Given the description of an element on the screen output the (x, y) to click on. 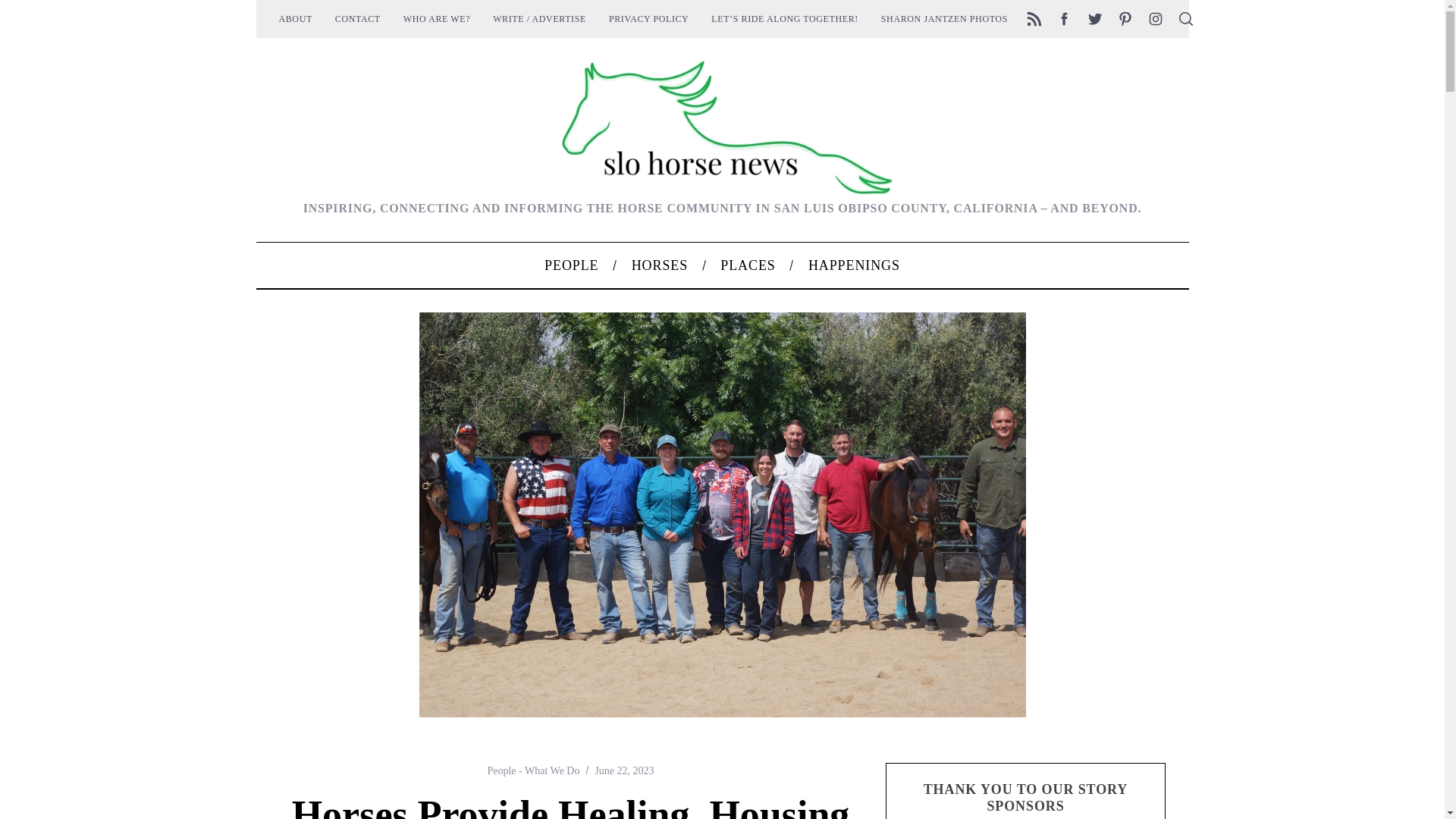
PLACES (748, 265)
CONTACT (357, 18)
WHO ARE WE? (436, 18)
PEOPLE (570, 265)
HORSES (659, 265)
PRIVACY POLICY (648, 18)
ABOUT (294, 18)
